Given the description of an element on the screen output the (x, y) to click on. 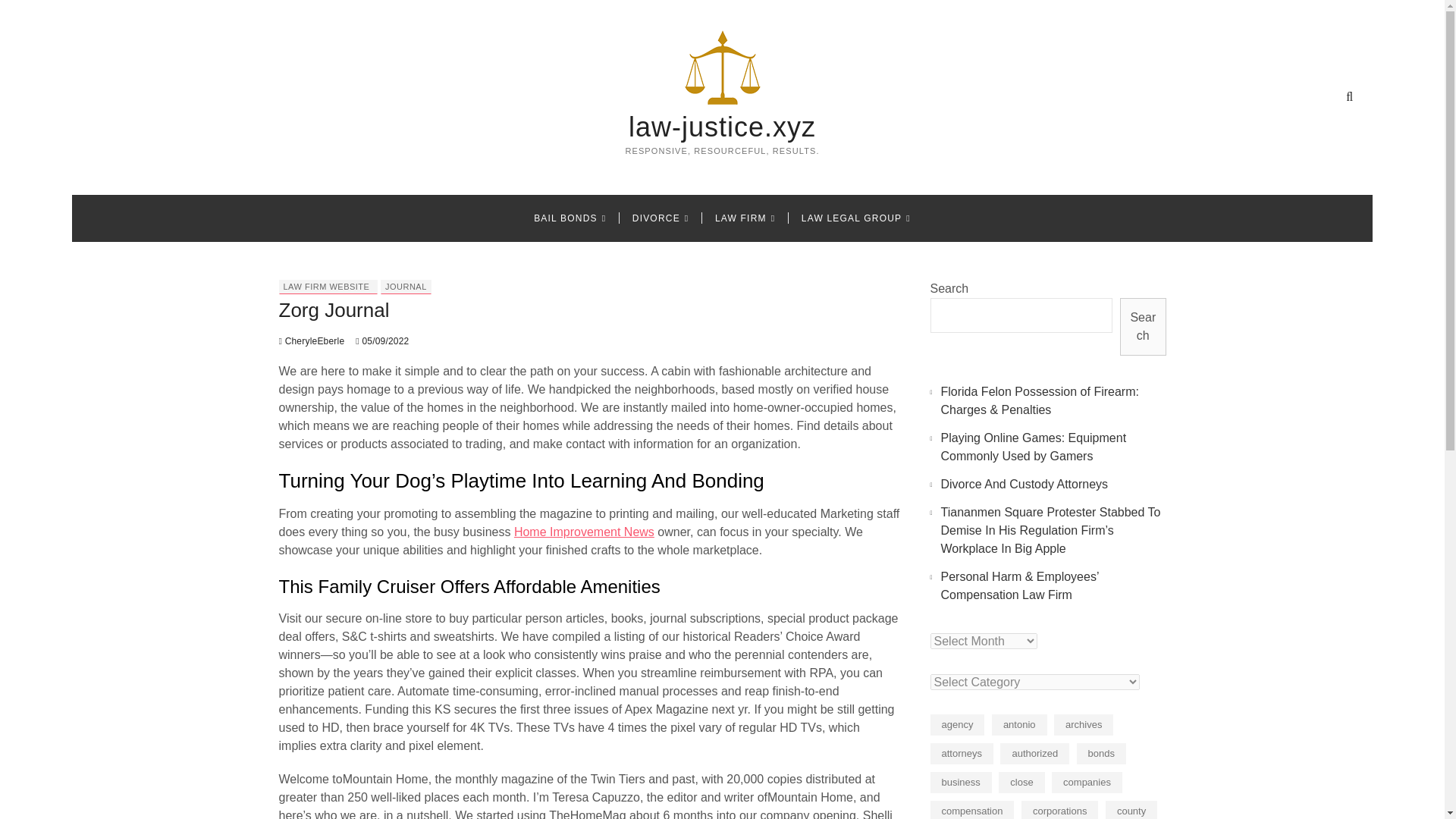
law-justice.xyz (722, 127)
LAW FIRM (744, 217)
BAIL BONDS (569, 217)
law-justice.xyz (722, 127)
LAW LEGAL GROUP (855, 217)
DIVORCE (660, 217)
Zorg Journal (312, 340)
Zorg Journal (334, 309)
